Given the description of an element on the screen output the (x, y) to click on. 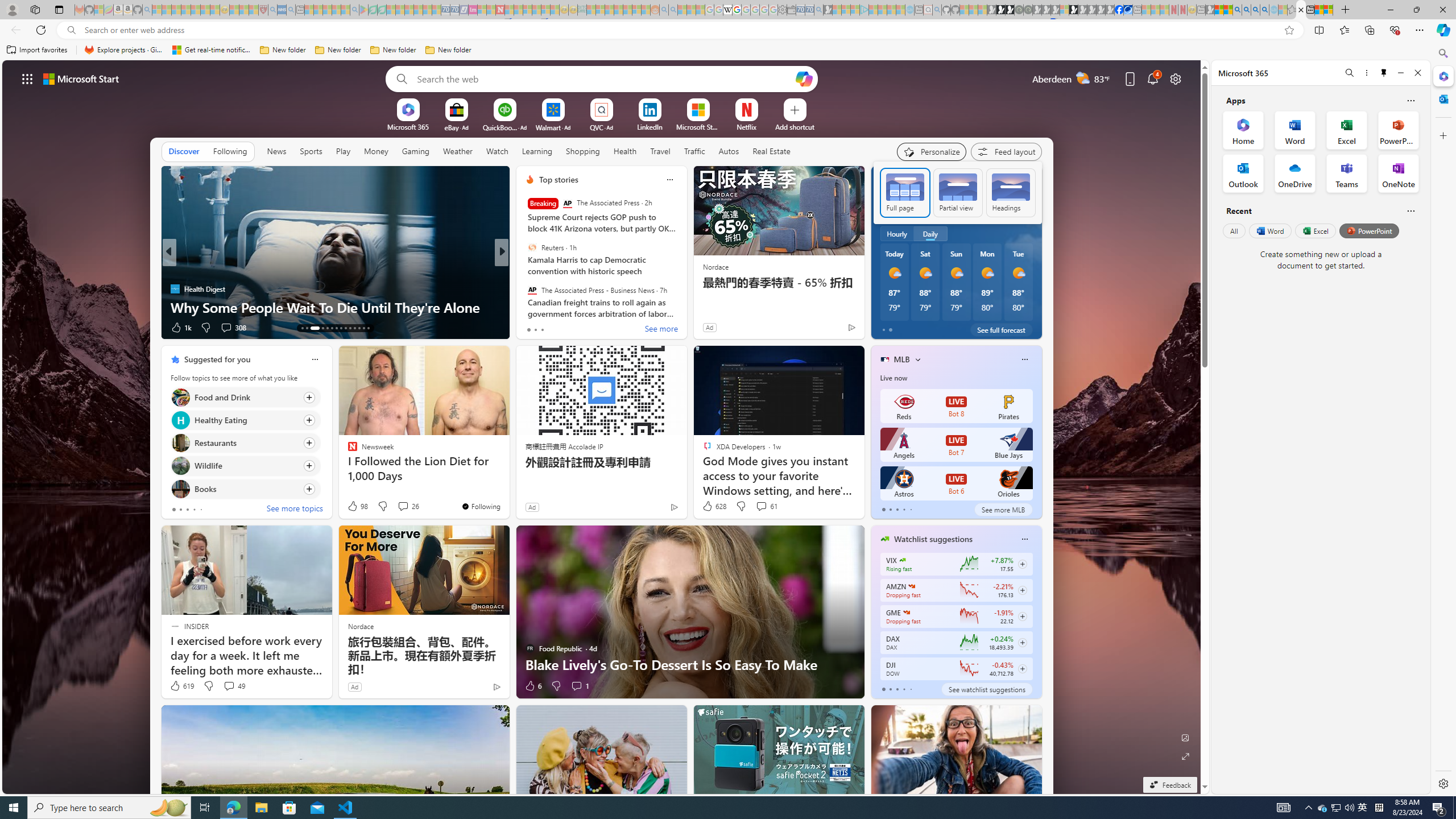
I Lost 88 Pounds With These 4 Simple Binge-Busting Tips (684, 298)
View comments 49 Comment (228, 685)
The Weather Channel - MSN - Sleeping (175, 9)
73 Like (530, 327)
Aberdeen (897, 179)
Expect light rain next Wednesday (1028, 208)
364 Like (532, 327)
